Given the description of an element on the screen output the (x, y) to click on. 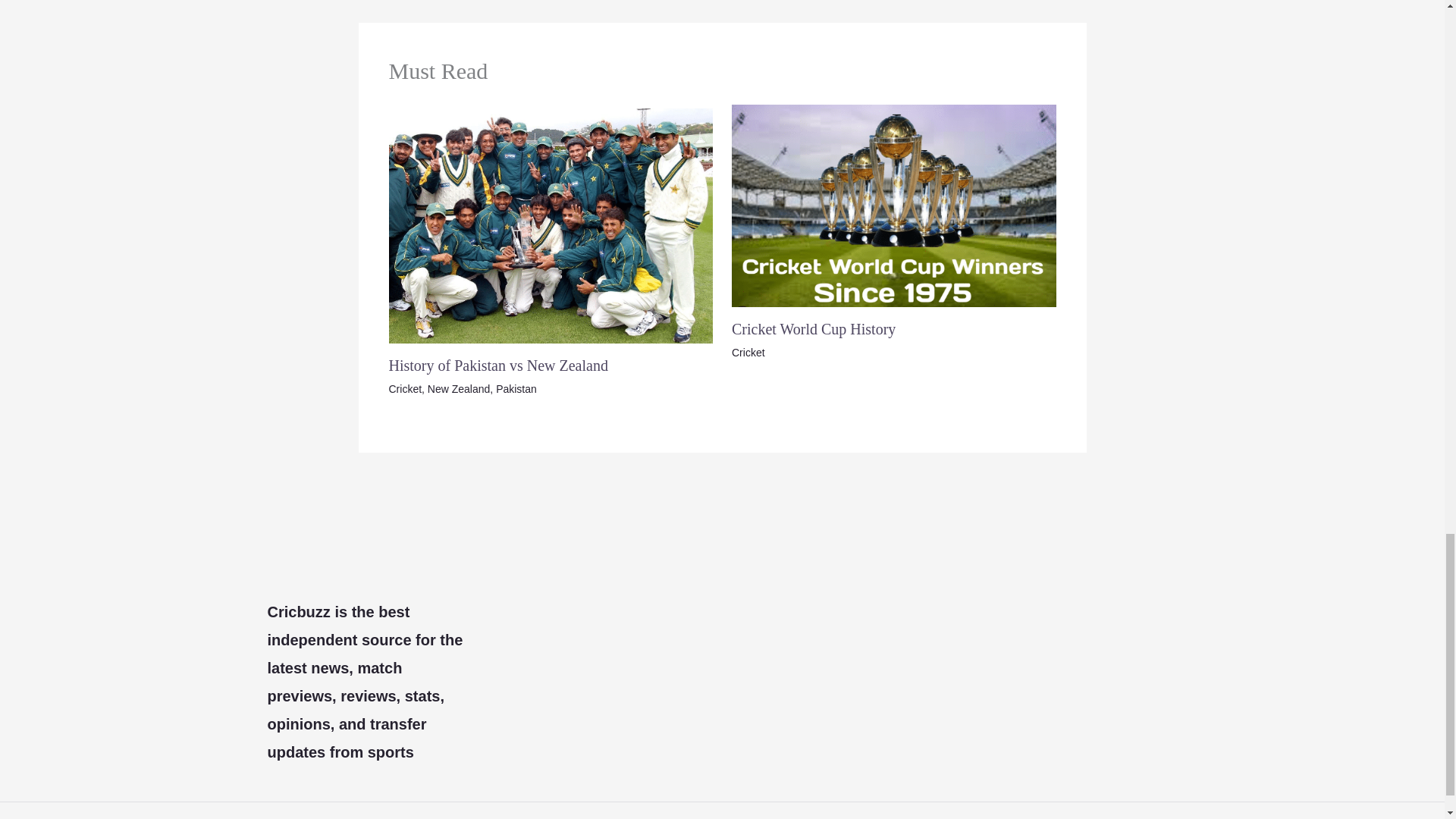
History of Pakistan vs New Zealand (497, 365)
Cricket (748, 352)
Cricket (405, 388)
Pakistan (516, 388)
Cricket World Cup History (813, 329)
New Zealand (459, 388)
